Given the description of an element on the screen output the (x, y) to click on. 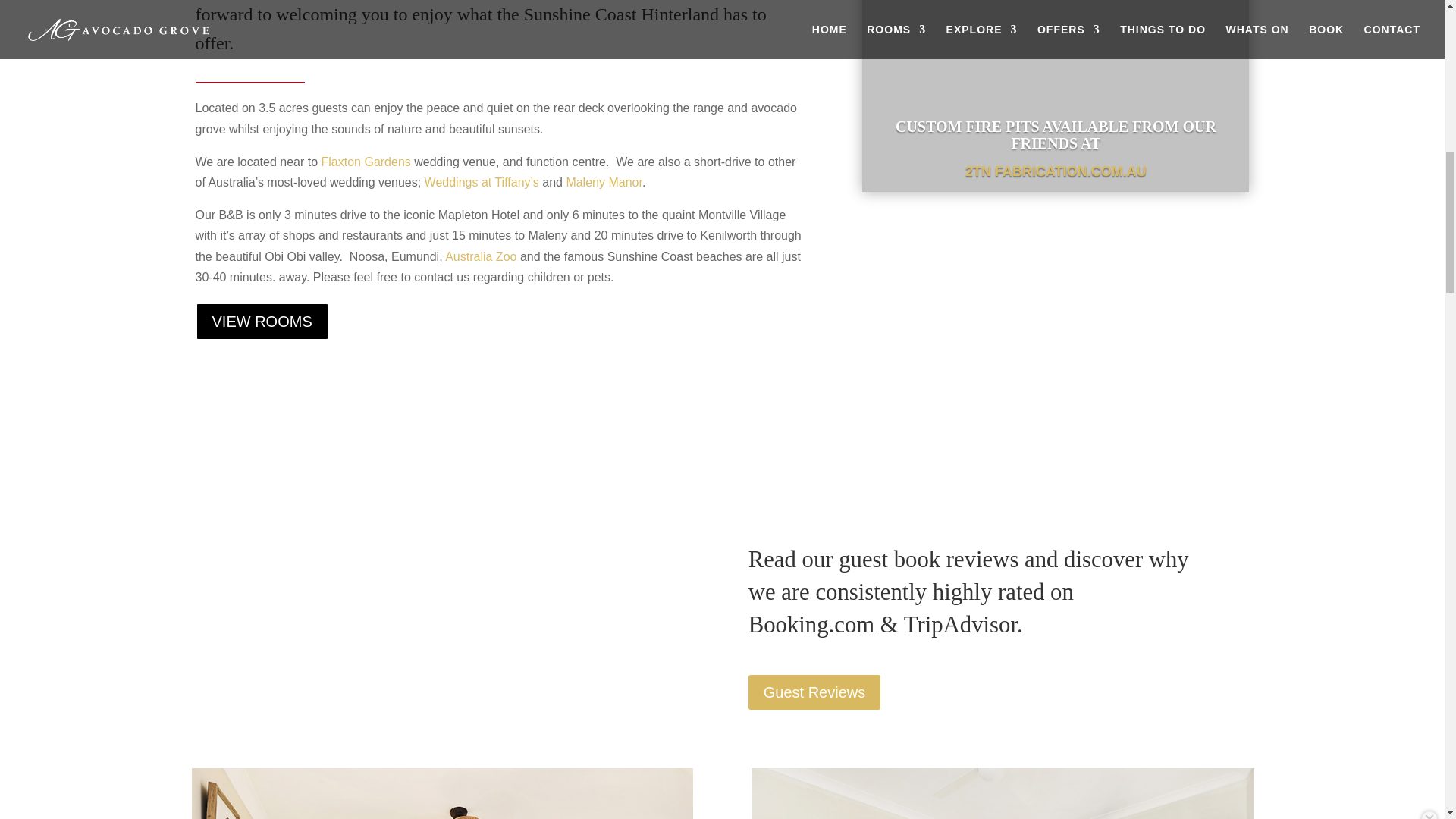
Maleny Manor (604, 182)
Flaxton Gardens (365, 161)
Australia Zoo (480, 256)
